Given the description of an element on the screen output the (x, y) to click on. 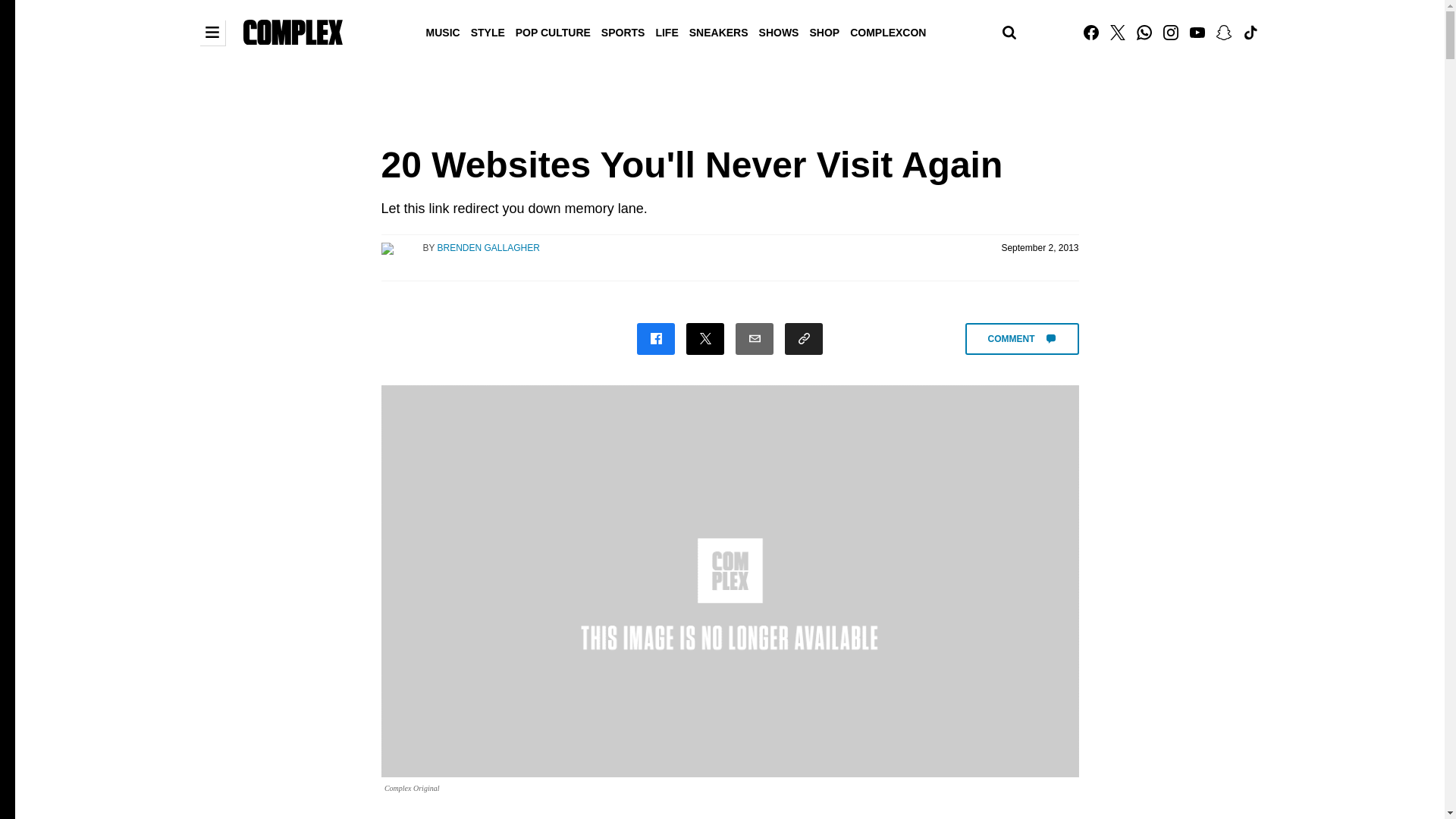
SHOP (823, 30)
STYLE (488, 30)
LIFE (665, 30)
SNEAKERS (719, 30)
SHOWS (779, 30)
MUSIC (442, 30)
POP CULTURE (553, 30)
SPORTS (622, 30)
COMPLEXCON (887, 30)
